Given the description of an element on the screen output the (x, y) to click on. 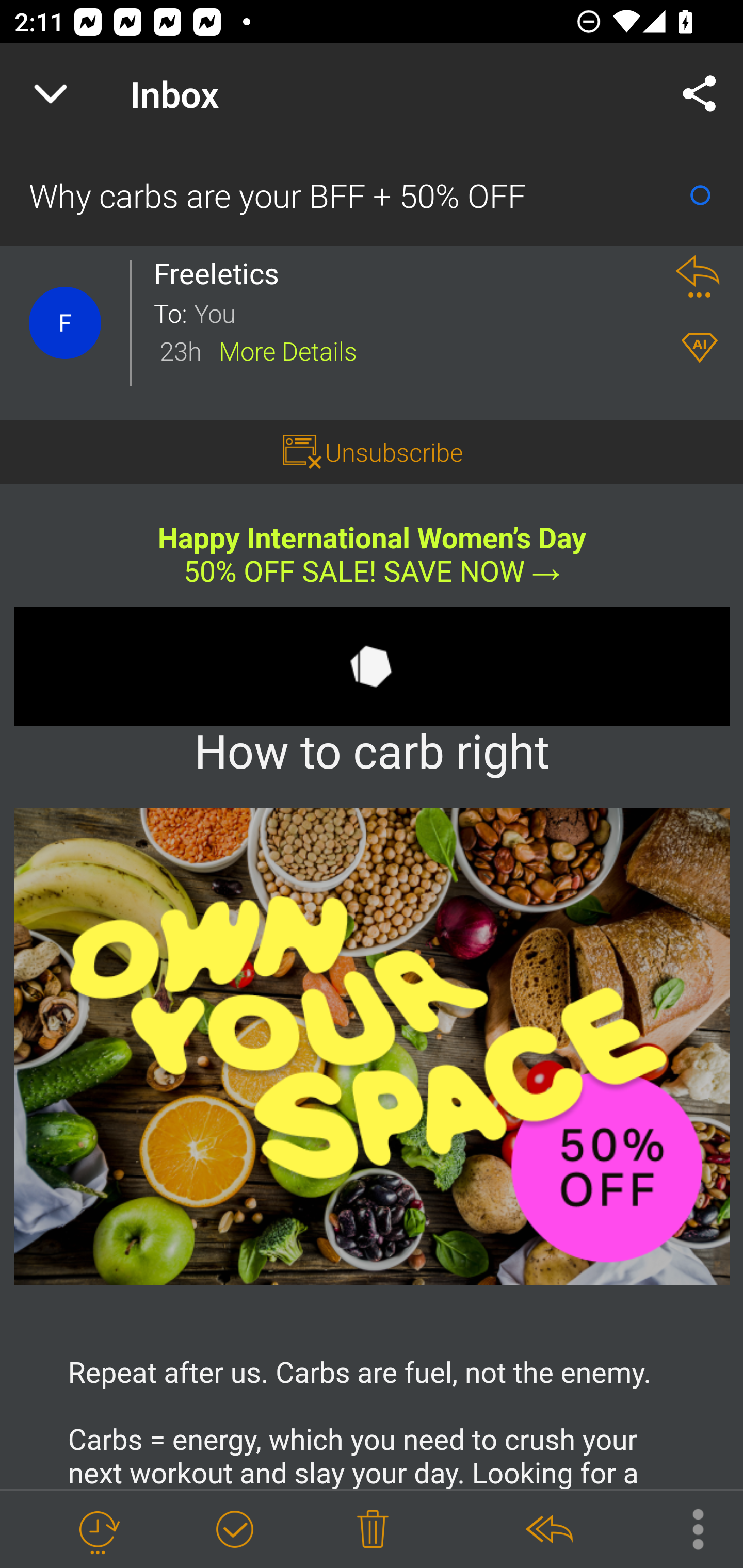
Navigate up (50, 93)
Share (699, 93)
Mark as Read (699, 194)
Freeletics (221, 273)
Contact Details (64, 322)
You (422, 311)
More Details (287, 349)
Unsubscribe (393, 451)
Happy International Women’s Day (371, 538)
50% OFF SALE! SAVE NOW → (371, 571)
original (372, 1045)
Load more (371, 1373)
More Options (687, 1528)
Snooze (97, 1529)
Mark as Done (234, 1529)
Delete (372, 1529)
Reply All (548, 1529)
